Given the description of an element on the screen output the (x, y) to click on. 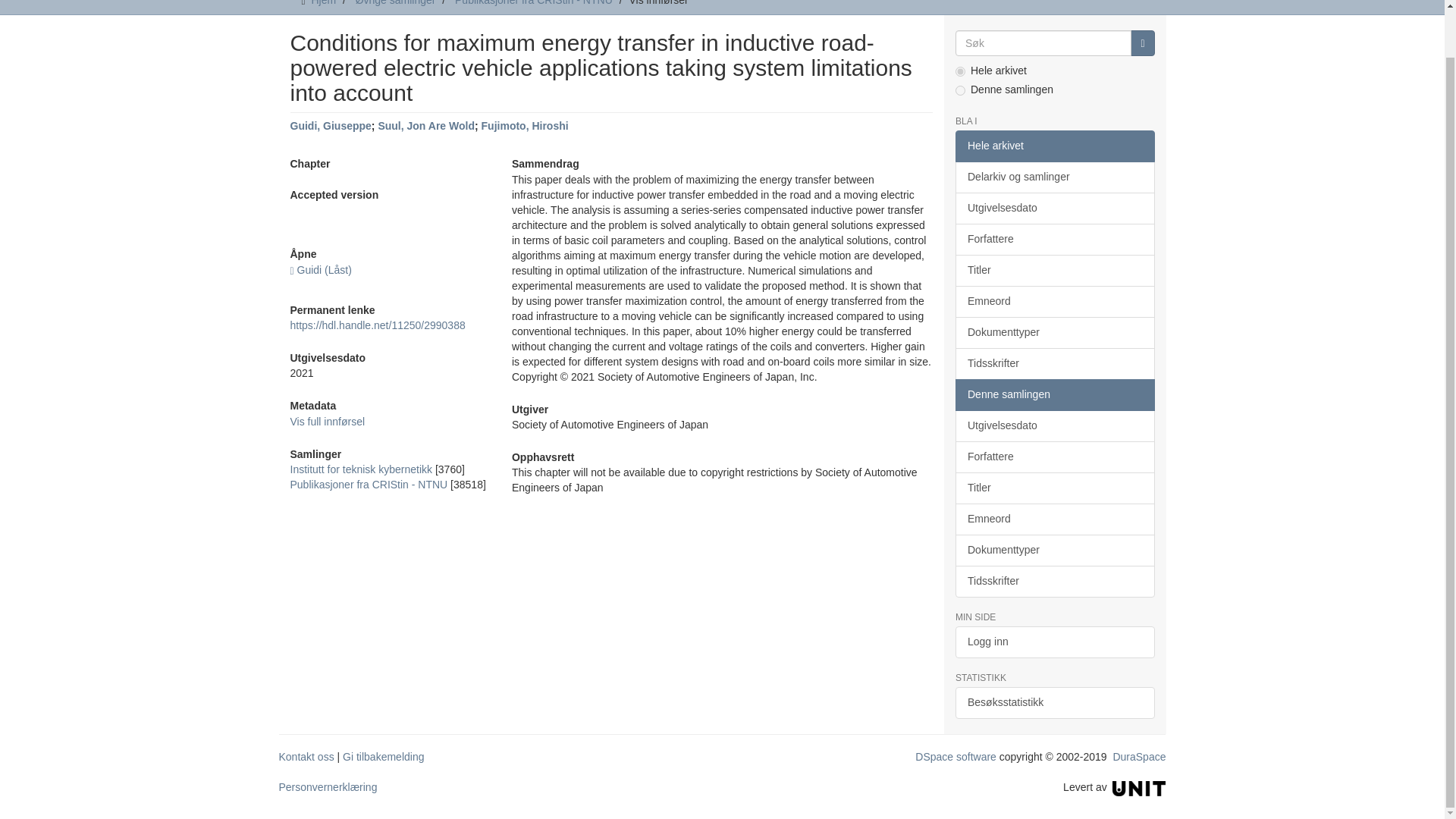
Hjem (323, 2)
Publikasjoner fra CRIStin - NTNU (367, 484)
Forfattere (1054, 239)
Institutt for teknisk kybernetikk (360, 469)
Titler (1054, 270)
Guidi, Giuseppe (330, 125)
Unit (1139, 787)
Publikasjoner fra CRIStin - NTNU (533, 2)
Hele arkivet (1054, 146)
Utgivelsesdato (1054, 208)
